Given the description of an element on the screen output the (x, y) to click on. 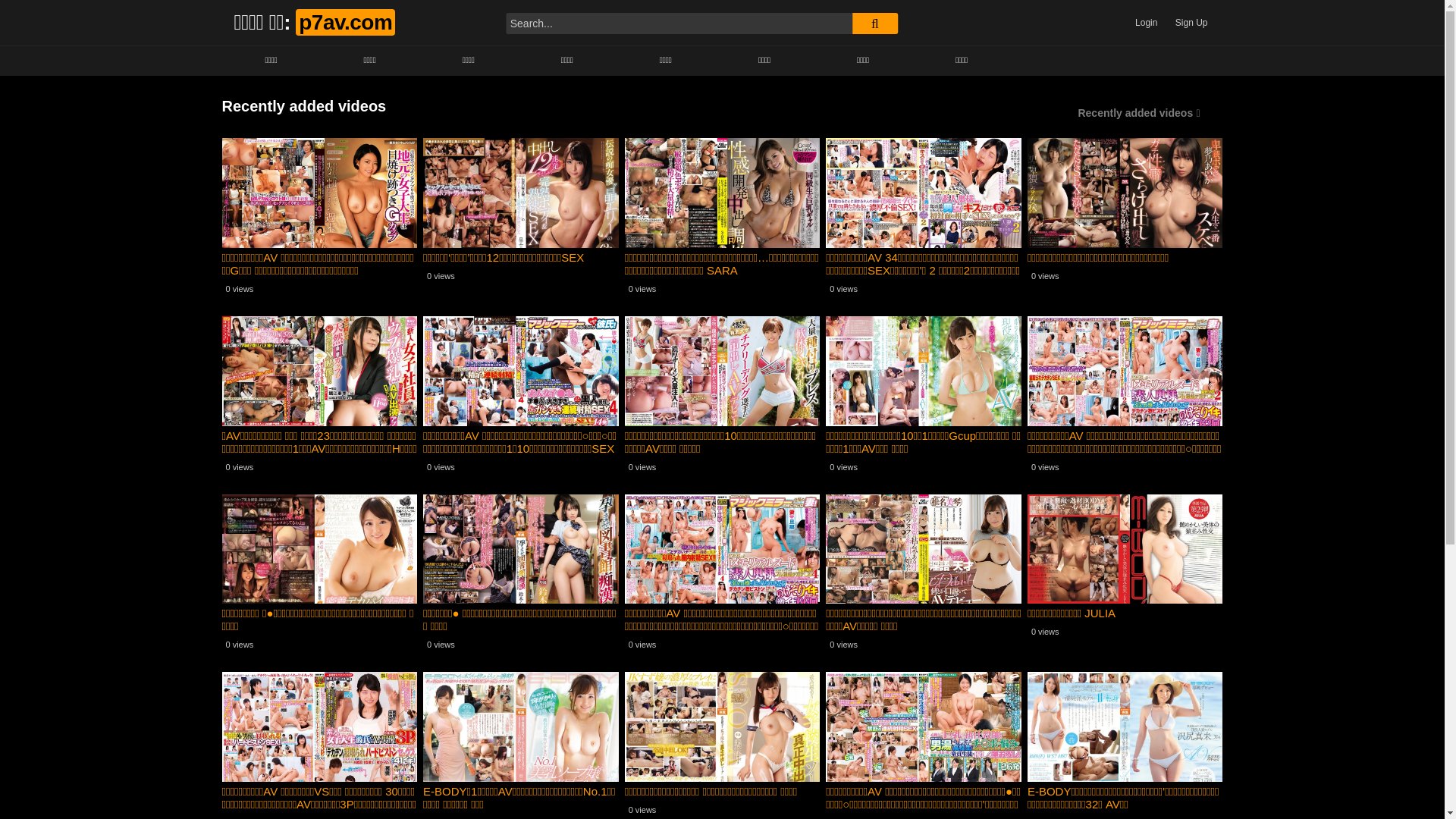
Login Element type: text (1146, 22)
Sign Up Element type: text (1191, 22)
